Given the description of an element on the screen output the (x, y) to click on. 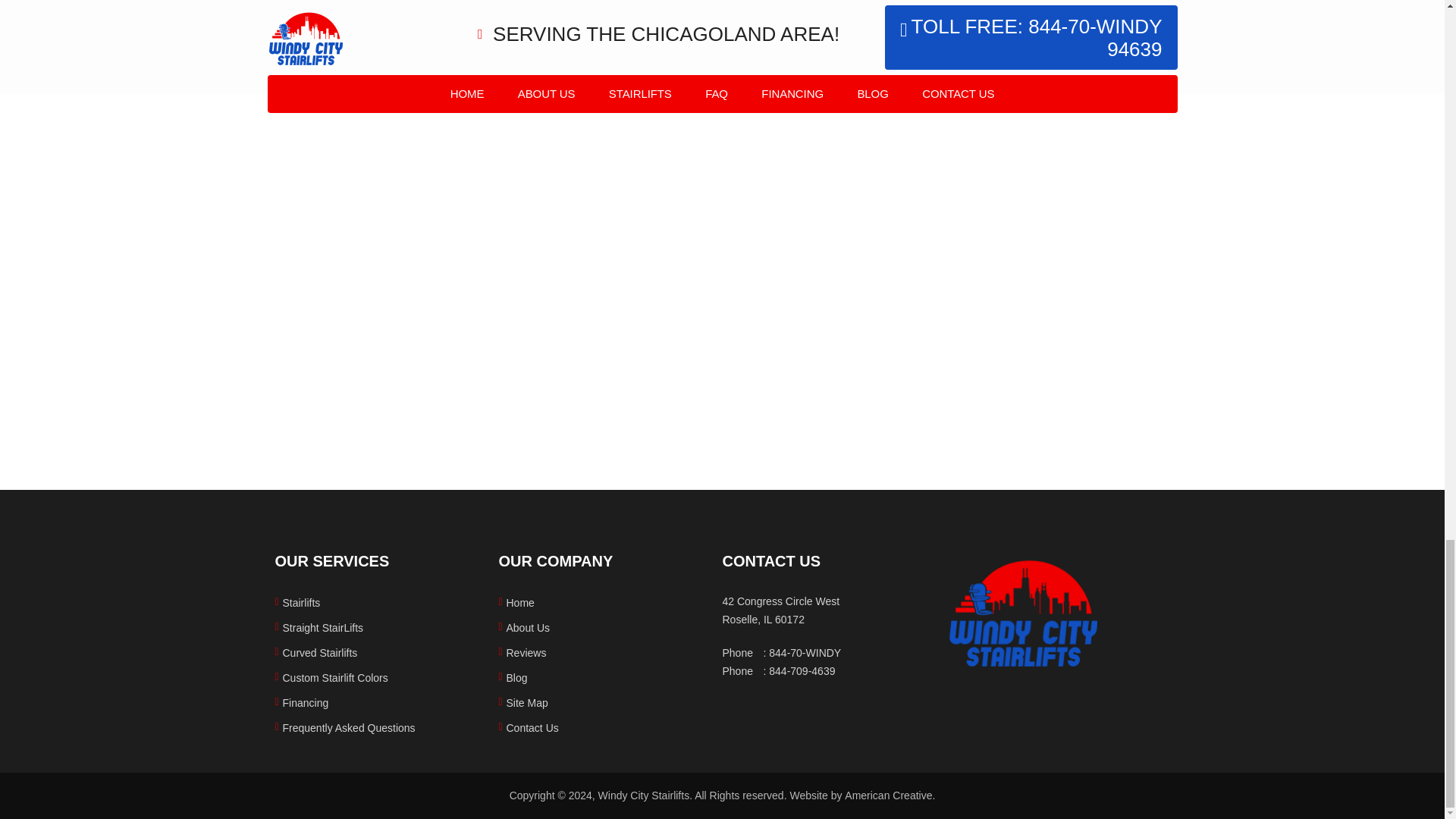
Home (520, 603)
844-709-4639 (801, 671)
Financing (305, 702)
Contact Us (532, 727)
Blog (516, 677)
American Creative. (889, 795)
Custom Stairlift Colors (334, 677)
844-70-WINDY (804, 653)
About Us (528, 627)
Curved Stairlifts (319, 653)
Reviews (526, 653)
Straight StairLifts (322, 627)
Site Map (527, 702)
Frequently Asked Questions (348, 727)
Stairlifts (301, 603)
